Given the description of an element on the screen output the (x, y) to click on. 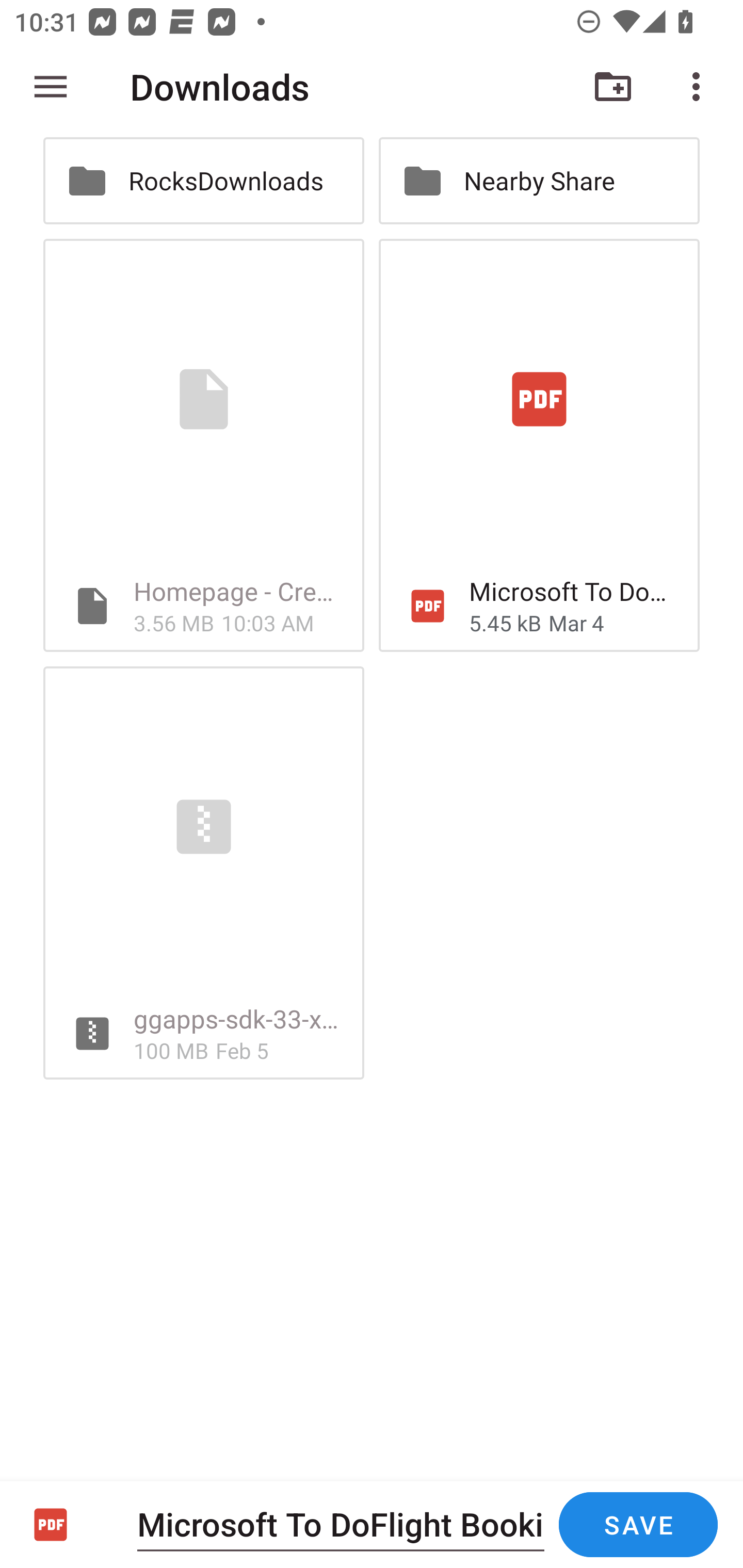
Show roots (50, 86)
New folder (612, 86)
More options (699, 86)
RocksDownloads (203, 180)
Nearby Share (538, 180)
Homepage - Creative Commons 3.56 MB 10:03 AM (203, 445)
Microsoft To DoFlight Booking.pdf 5.45 kB Mar 4 (538, 445)
ggapps-sdk-33-x86_64-20231003.zip 100 MB Feb 5 (203, 872)
SAVE (637, 1524)
Microsoft To DoFlight Booking.pdf (340, 1523)
